Given the description of an element on the screen output the (x, y) to click on. 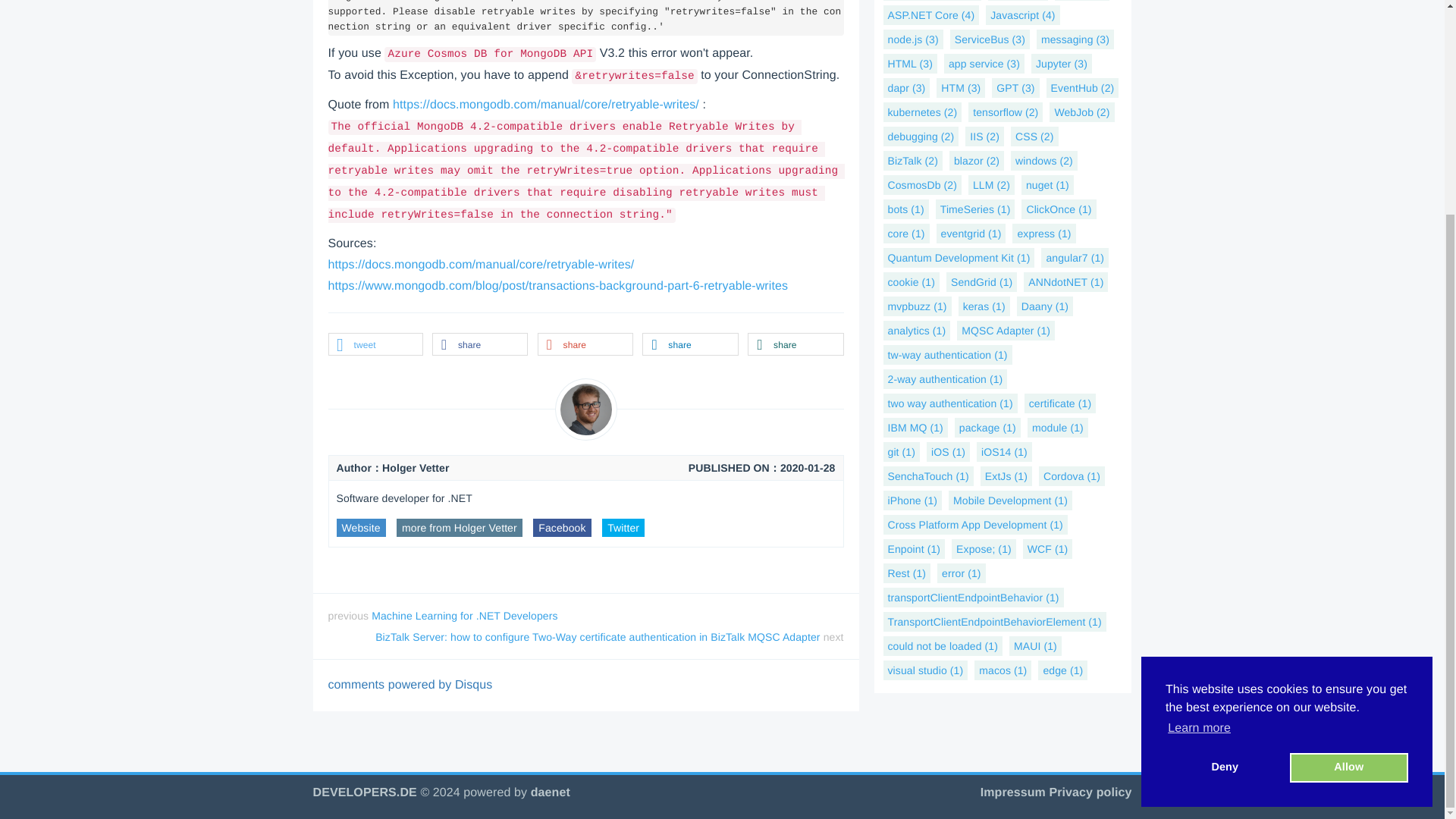
Allow (1348, 486)
share (479, 344)
Share on Facebook (479, 344)
Twitter (623, 527)
share (689, 344)
Share on LinkedIn (689, 344)
Learn more (1199, 447)
comments powered by Disqus (409, 684)
Machine Learning for .NET Developers (464, 615)
Share on Twitter (375, 344)
tweet (375, 344)
Website (360, 527)
more from Holger Vetter (459, 527)
share (795, 344)
